Given the description of an element on the screen output the (x, y) to click on. 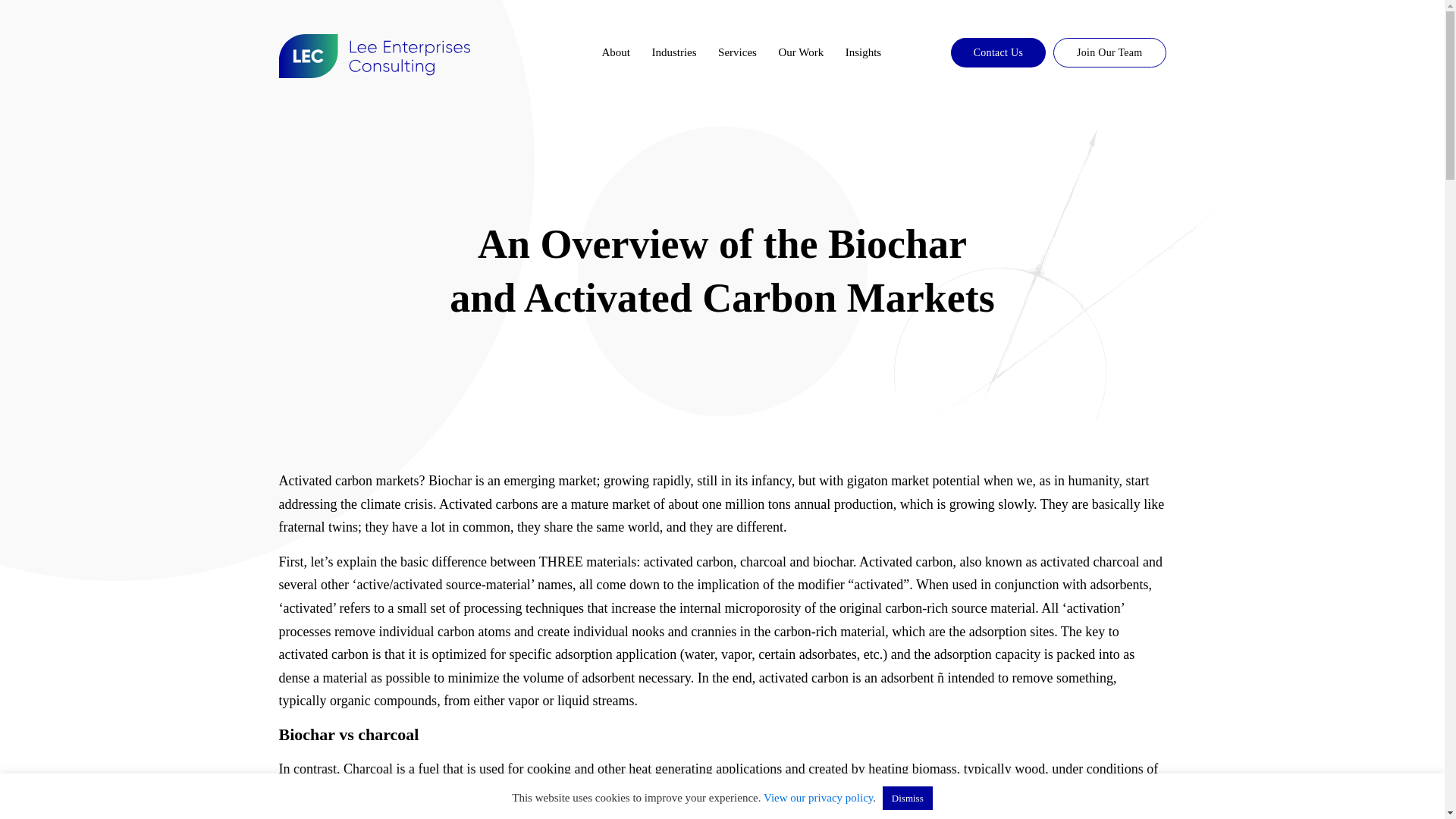
About (615, 51)
Lee Enterprises Consulting (374, 55)
Insights (863, 51)
Join Our Team (1109, 52)
Contact Us (997, 52)
Services (737, 51)
Industries (672, 51)
Our Work (800, 51)
